Given the description of an element on the screen output the (x, y) to click on. 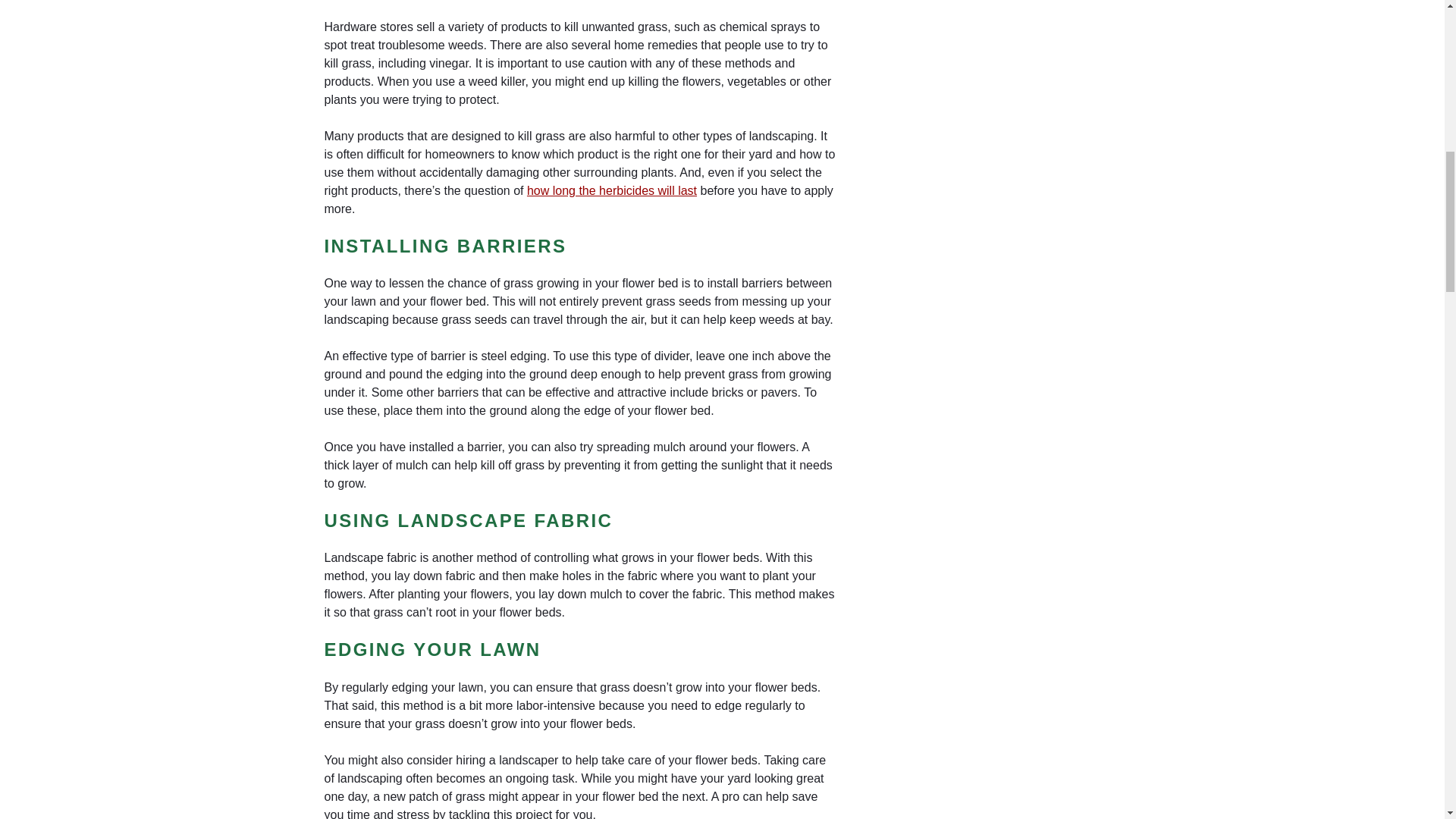
how long the herbicides will last (612, 189)
